Given the description of an element on the screen output the (x, y) to click on. 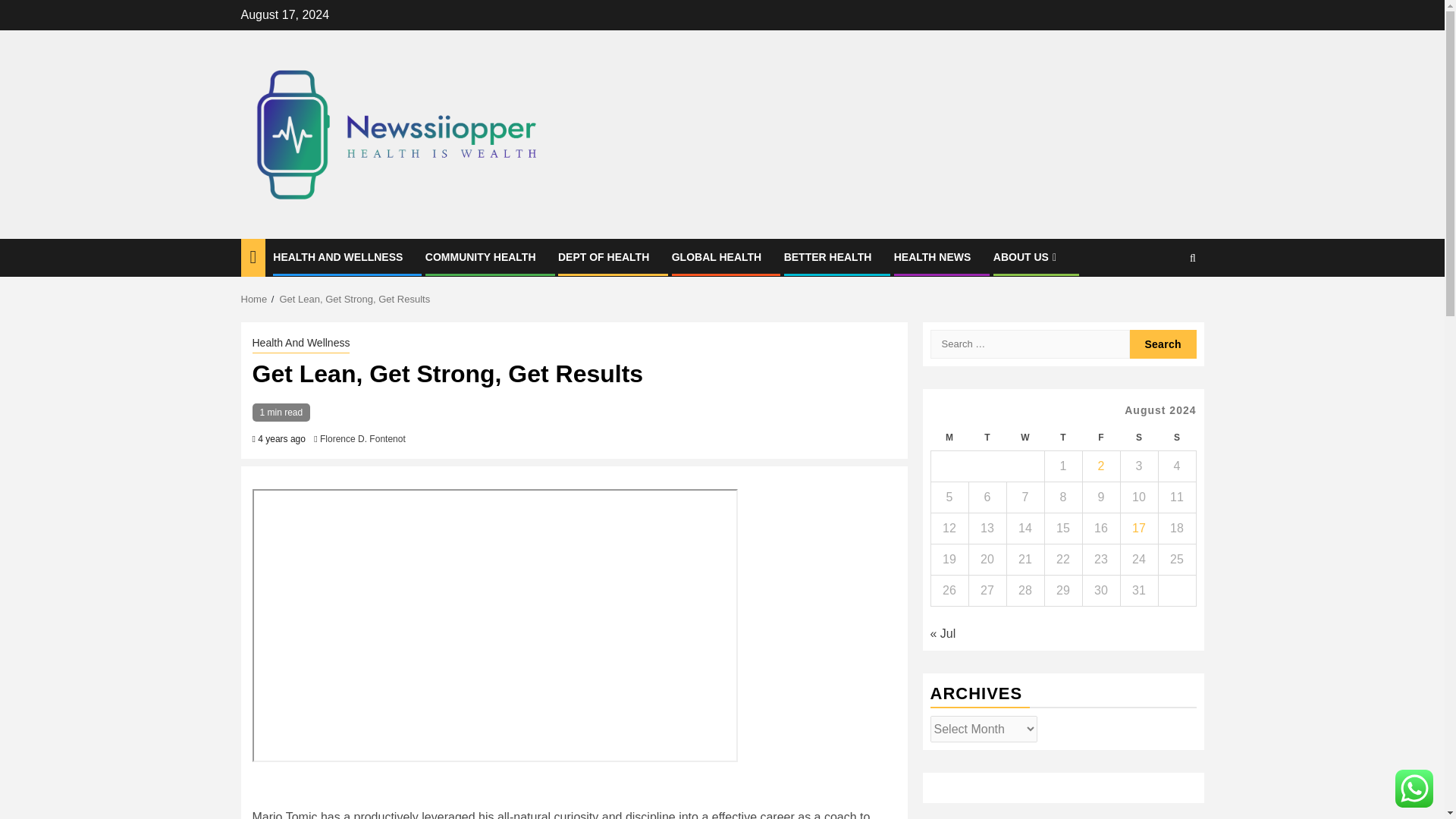
Wednesday (1024, 438)
Get Lean, Get Strong, Get Results (354, 298)
Tuesday (987, 438)
Monday (949, 438)
Search (1162, 344)
Saturday (1138, 438)
Home (254, 298)
GLOBAL HEALTH (716, 256)
Friday (1100, 438)
Search (1163, 304)
